Given the description of an element on the screen output the (x, y) to click on. 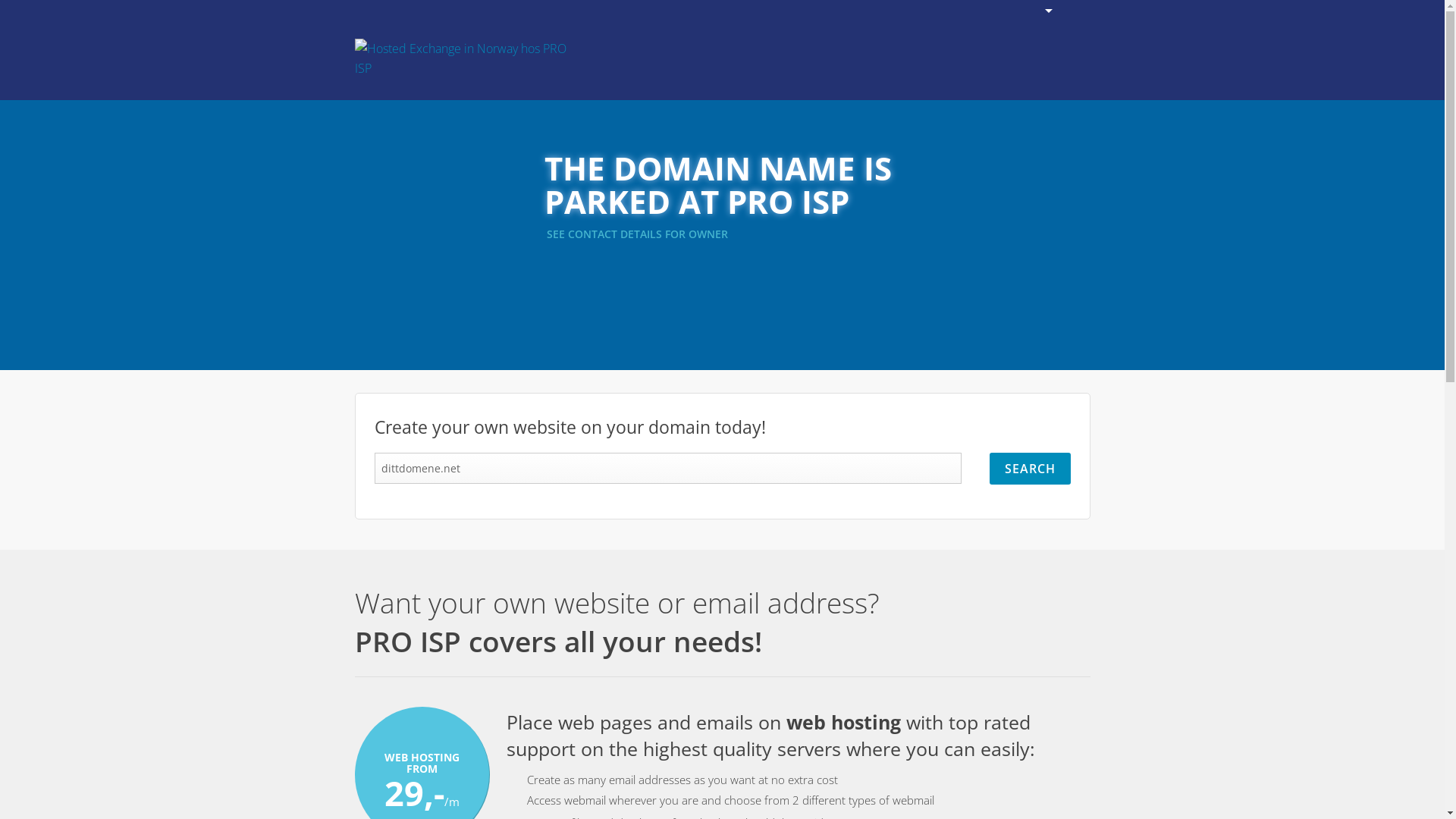
SEARCH Element type: text (1029, 468)
SEE CONTACT DETAILS FOR OWNER Element type: text (638, 233)
